Given the description of an element on the screen output the (x, y) to click on. 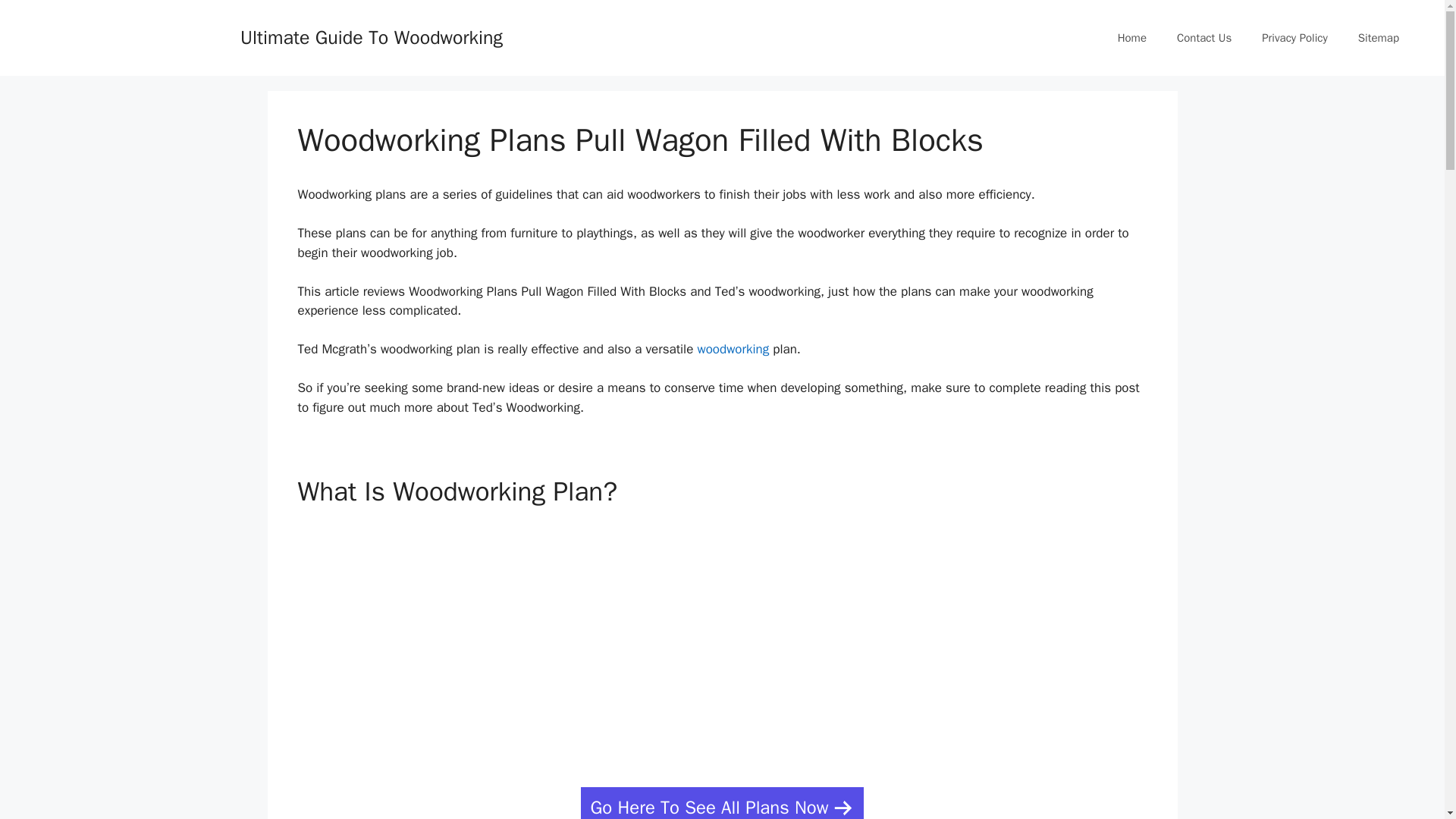
woodworking (732, 349)
Home (1131, 37)
Contact Us (1203, 37)
Sitemap (1377, 37)
Privacy Policy (1294, 37)
Go Here To See All Plans Now (722, 803)
Ultimate Guide To Woodworking (371, 37)
